Given the description of an element on the screen output the (x, y) to click on. 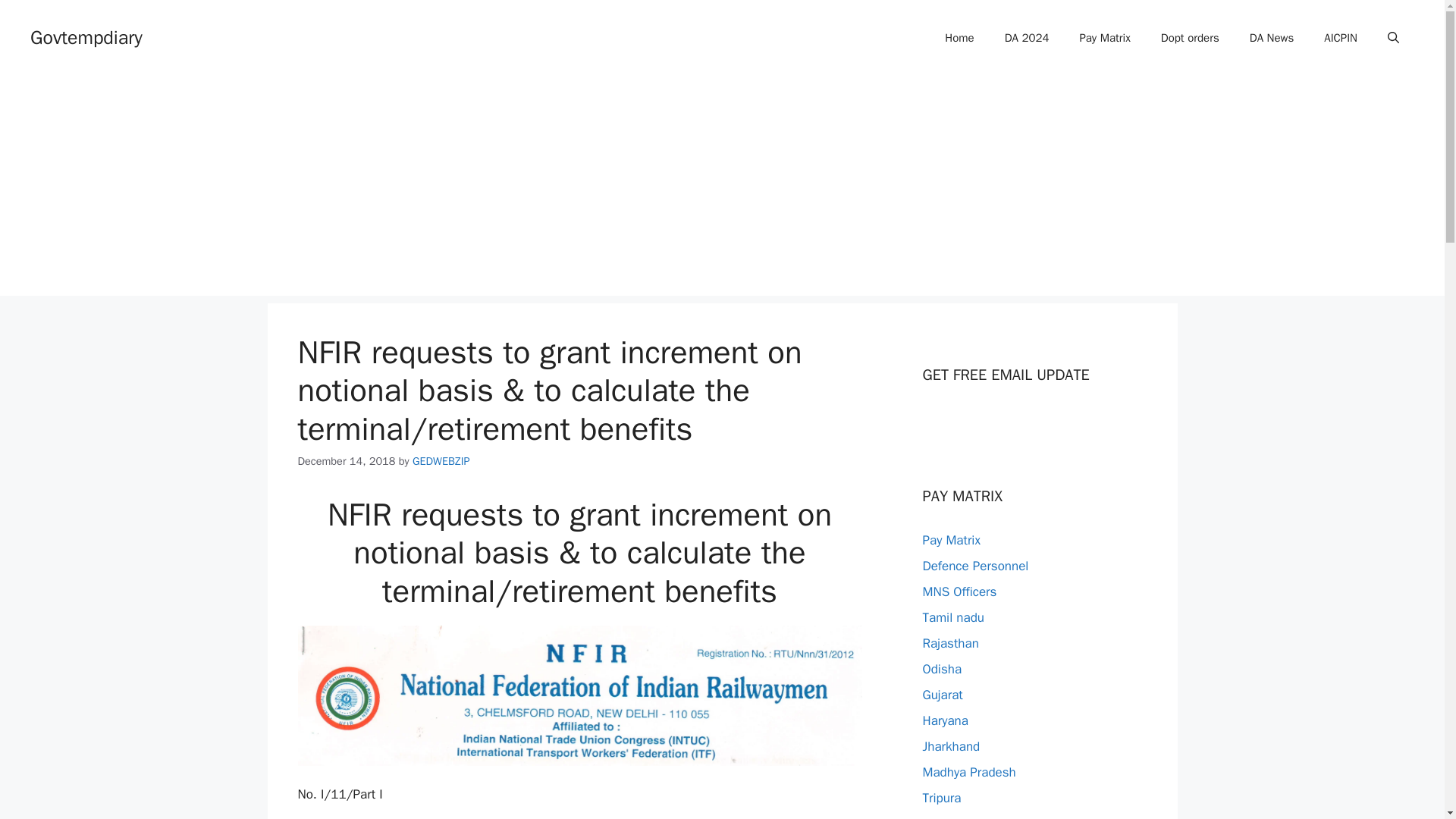
DA From January 2024 (1027, 37)
Gujarat (941, 694)
DA News (1271, 37)
Madhya Pradesh (967, 772)
Dopt orders (1189, 37)
Odisha (940, 668)
MNS Officers (958, 591)
GEDWEBZIP (441, 460)
Govtempdiary (86, 37)
